Given the description of an element on the screen output the (x, y) to click on. 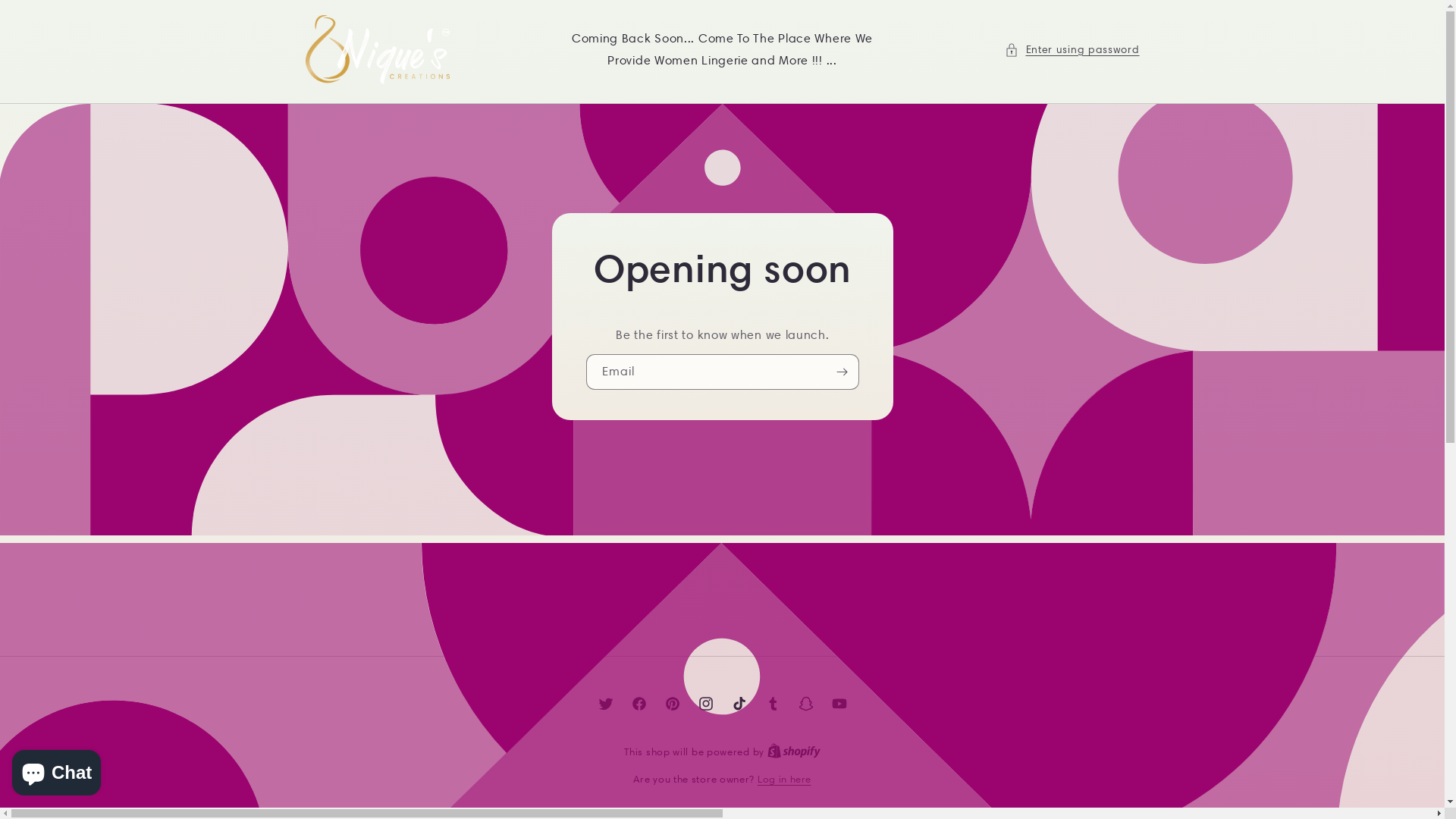
Tumblr Element type: text (771, 703)
Shopify online store chat Element type: hover (56, 769)
Snapchat Element type: text (805, 703)
TikTok Element type: text (738, 703)
Pinterest Element type: text (671, 703)
Log in here Element type: text (784, 779)
Facebook Element type: text (638, 703)
Instagram Element type: text (704, 703)
Twitter Element type: text (604, 703)
YouTube Element type: text (838, 703)
